Given the description of an element on the screen output the (x, y) to click on. 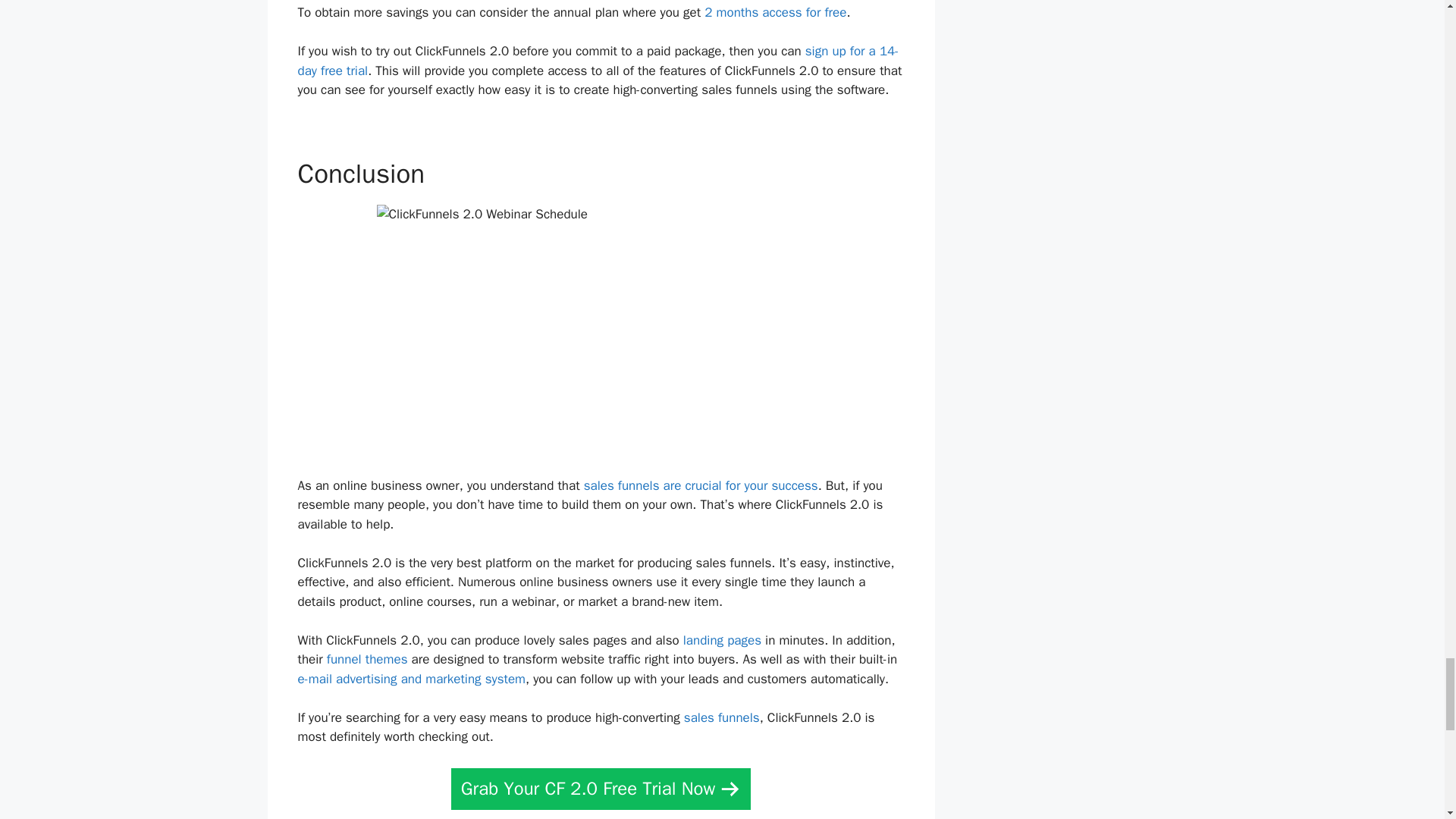
landing pages (721, 640)
Grab Your CF 2.0 Free Trial Now (601, 788)
funnel themes (366, 659)
2 months access for free (774, 12)
e-mail advertising and marketing system (411, 678)
sales funnels (722, 717)
sales funnels are crucial for your success (700, 485)
sign up for a 14-day free trial (597, 60)
